Given the description of an element on the screen output the (x, y) to click on. 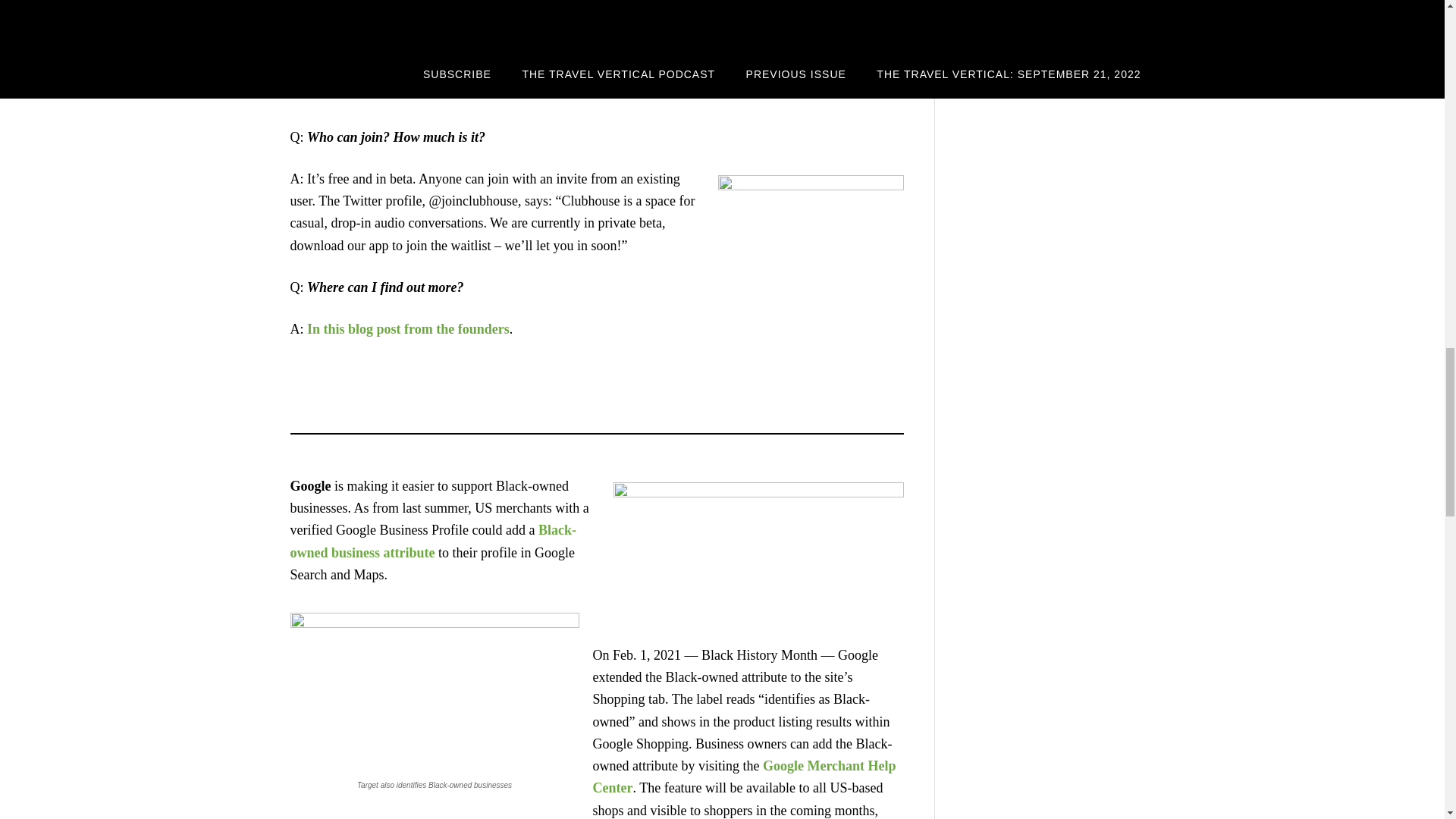
Black-owned business attribute (432, 540)
In this blog post from the founders (408, 328)
Google Merchant Help Center (744, 776)
